Given the description of an element on the screen output the (x, y) to click on. 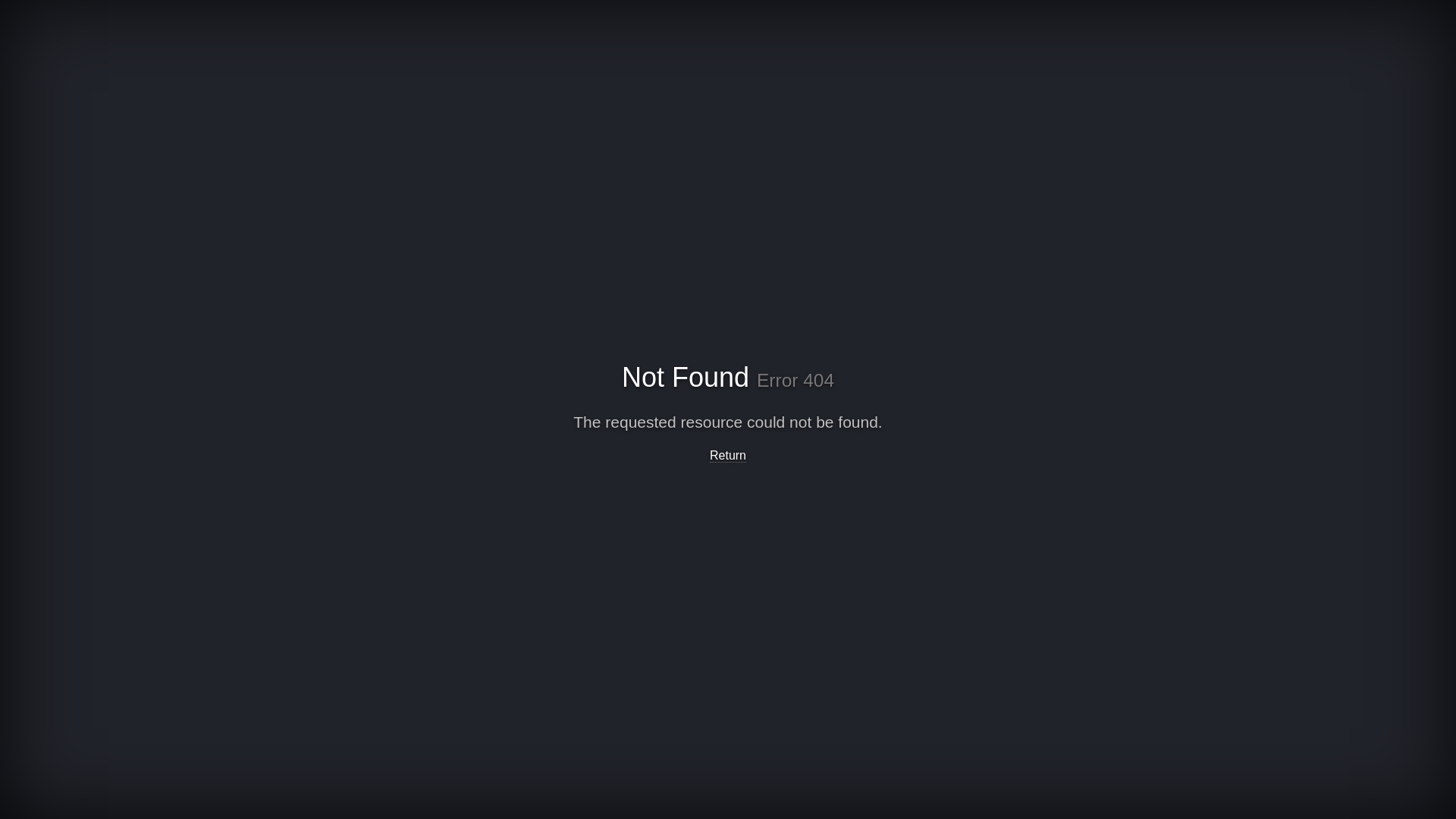
Return (727, 455)
